Given the description of an element on the screen output the (x, y) to click on. 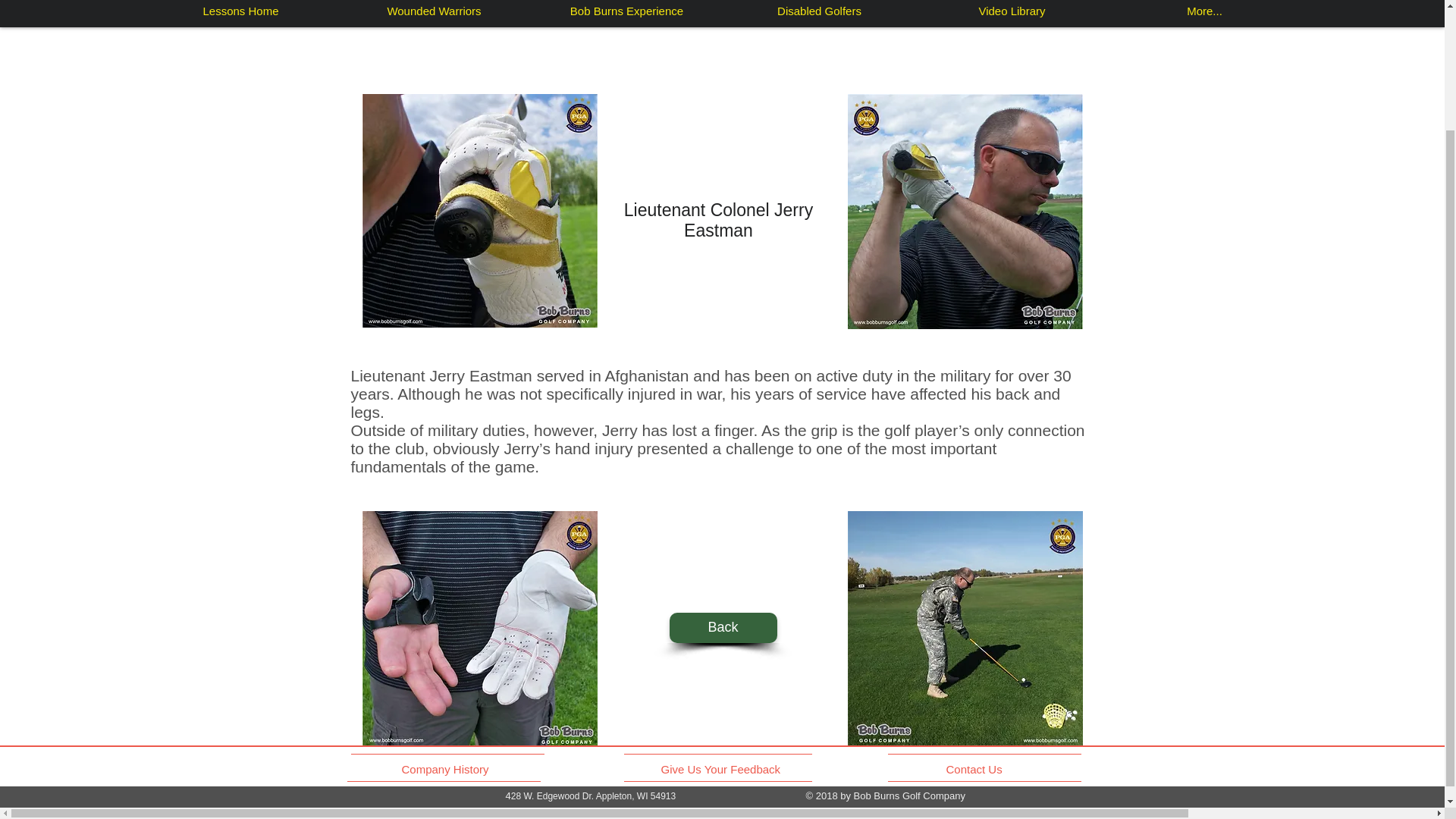
Company History (448, 768)
Bob Burns Experience (625, 11)
Wounded Warriors (433, 11)
Video Library (1011, 11)
Lessons Home (240, 11)
Back (722, 627)
Disabled Golfers (818, 11)
Give Us Your Feedback (724, 768)
Contact Us (976, 768)
